Given the description of an element on the screen output the (x, y) to click on. 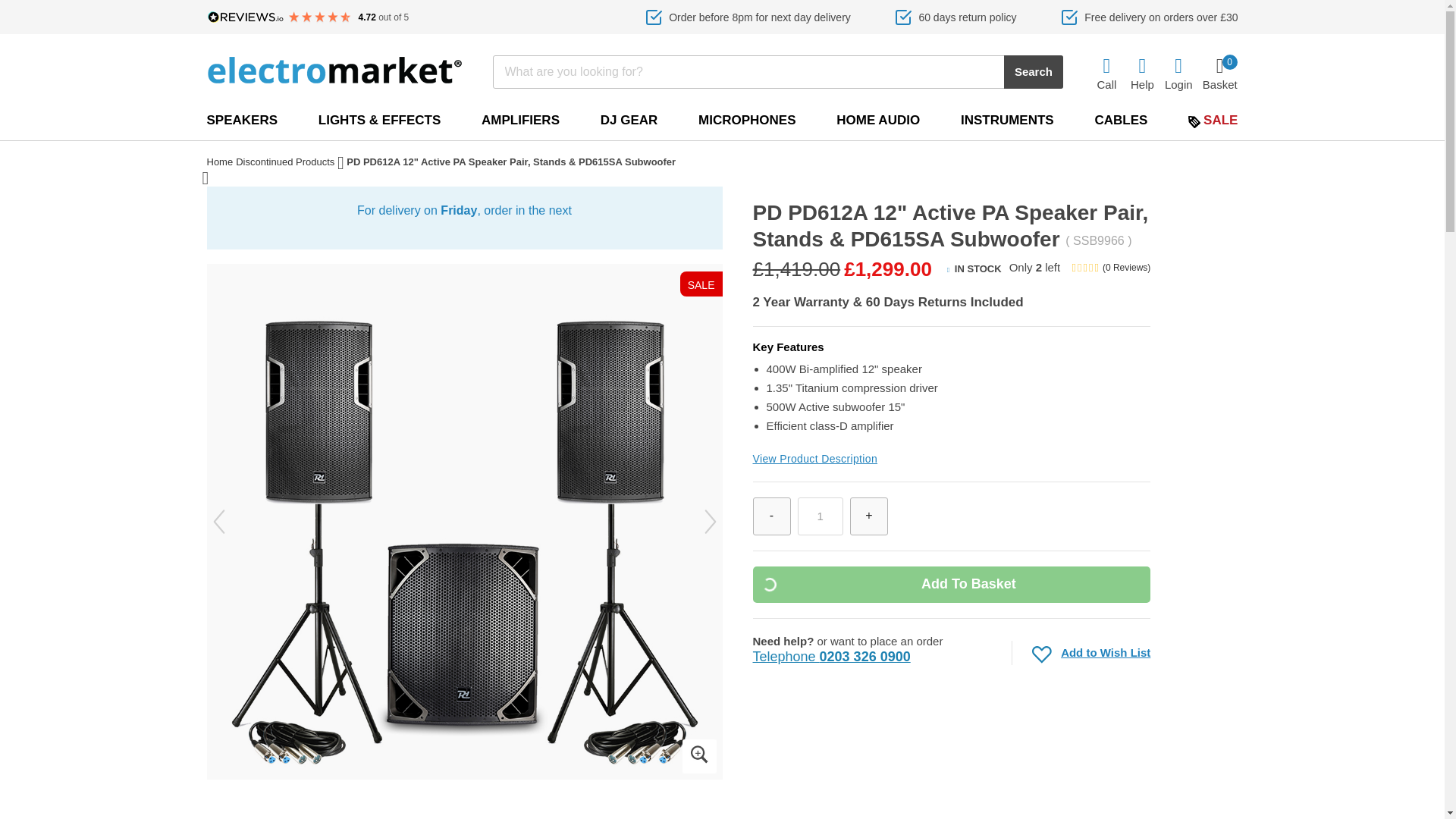
Only 2 left (1035, 269)
1 (820, 516)
Availability (974, 269)
ElectroMarket (333, 69)
Anchor to full description (814, 459)
Qty (820, 516)
SPEAKERS (242, 120)
Search (1033, 71)
Add to basket (951, 584)
- (771, 516)
